Given the description of an element on the screen output the (x, y) to click on. 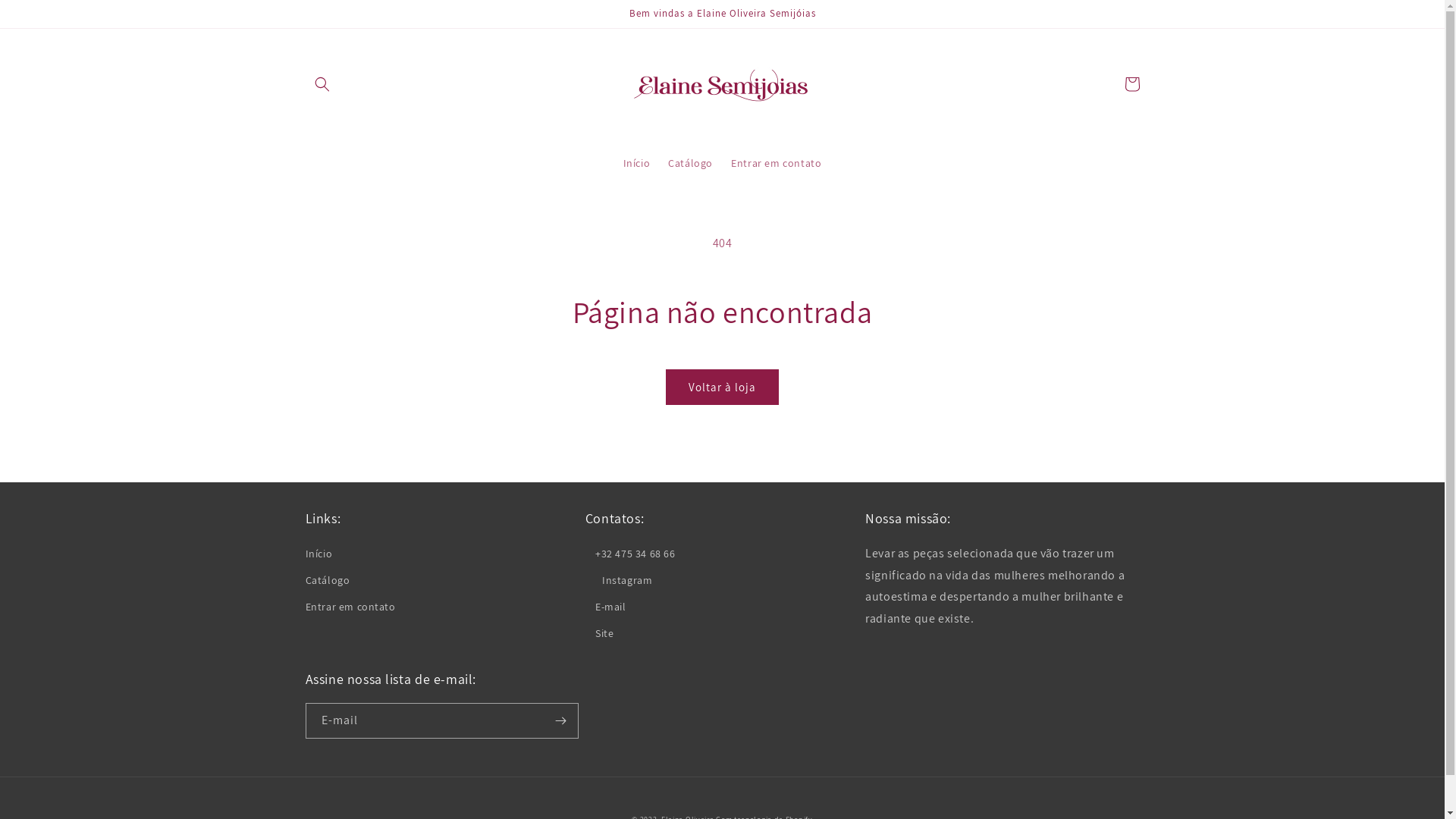
Carrinho Element type: text (1131, 83)
Entrar em contato Element type: text (349, 606)
Entrar em contato Element type: text (775, 162)
